Given the description of an element on the screen output the (x, y) to click on. 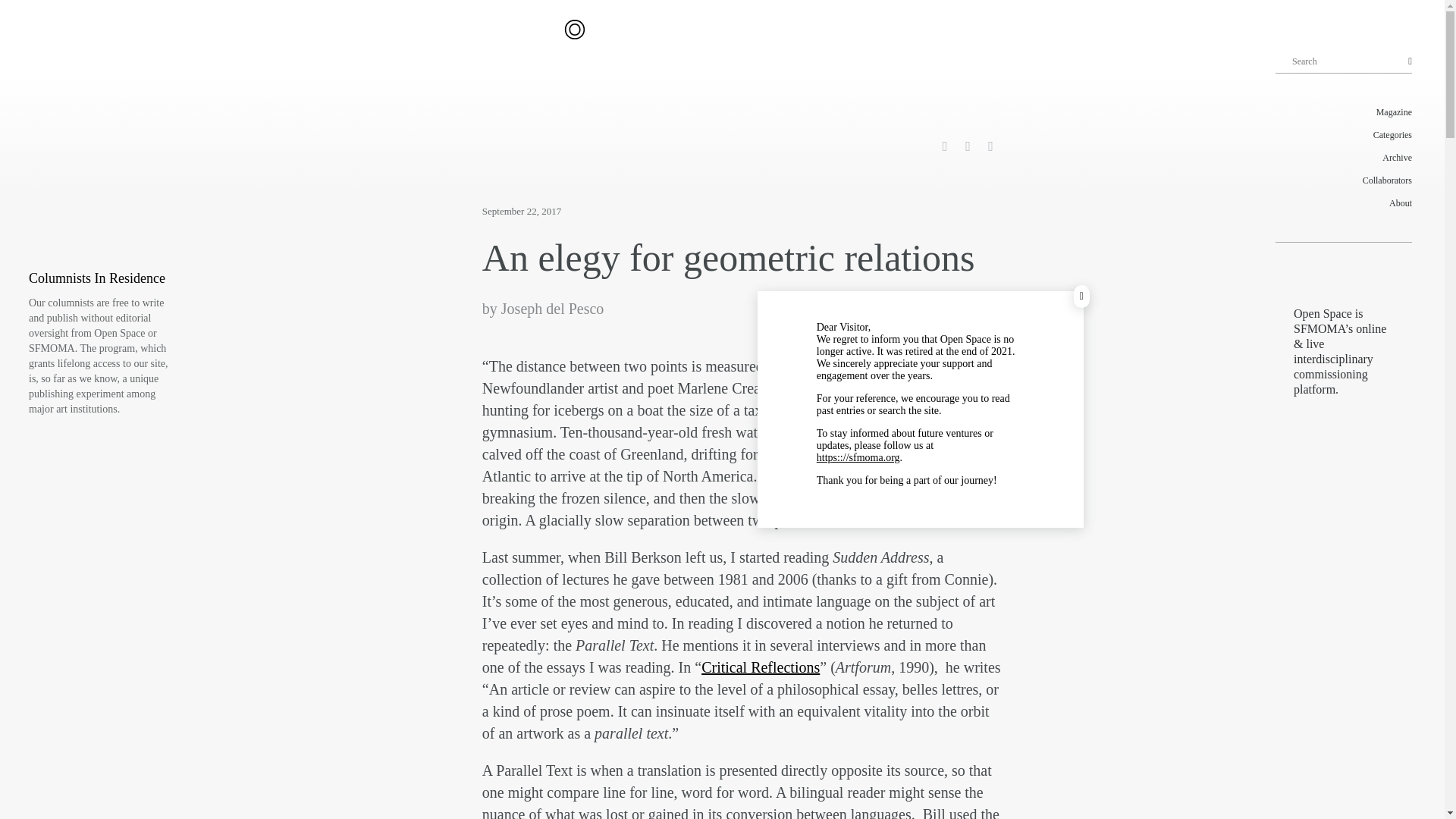
Joseph del Pesco (552, 308)
Collaborators (1343, 179)
Critical Reflections (760, 667)
View all posts in Columnists In Residence (97, 278)
About (1343, 202)
Categories (1343, 134)
Magazine (1343, 111)
Columnists In Residence (97, 278)
www.sfmoma.org (857, 457)
Archive (1343, 157)
